Given the description of an element on the screen output the (x, y) to click on. 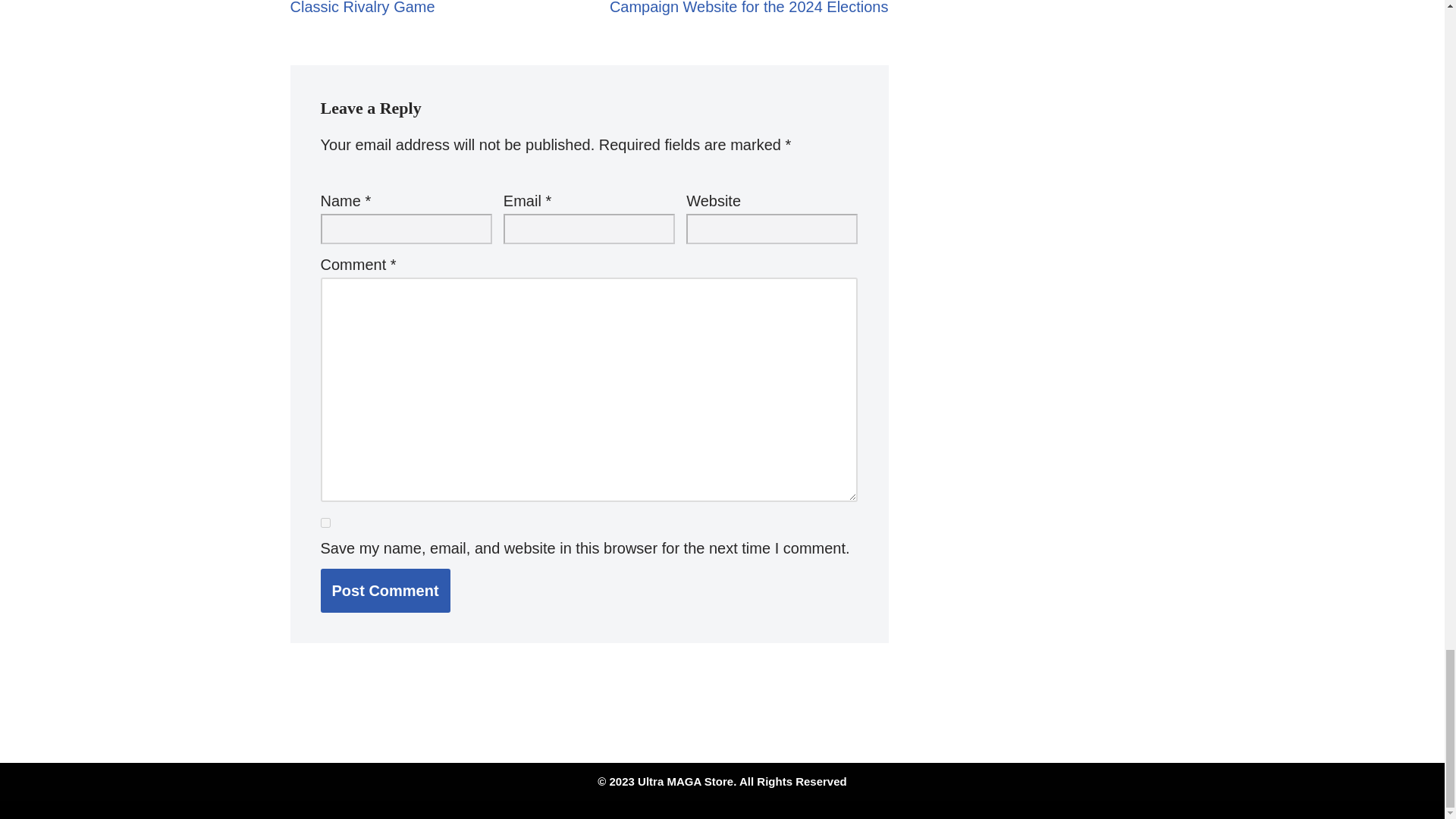
Post Comment (384, 590)
yes (325, 522)
